Given the description of an element on the screen output the (x, y) to click on. 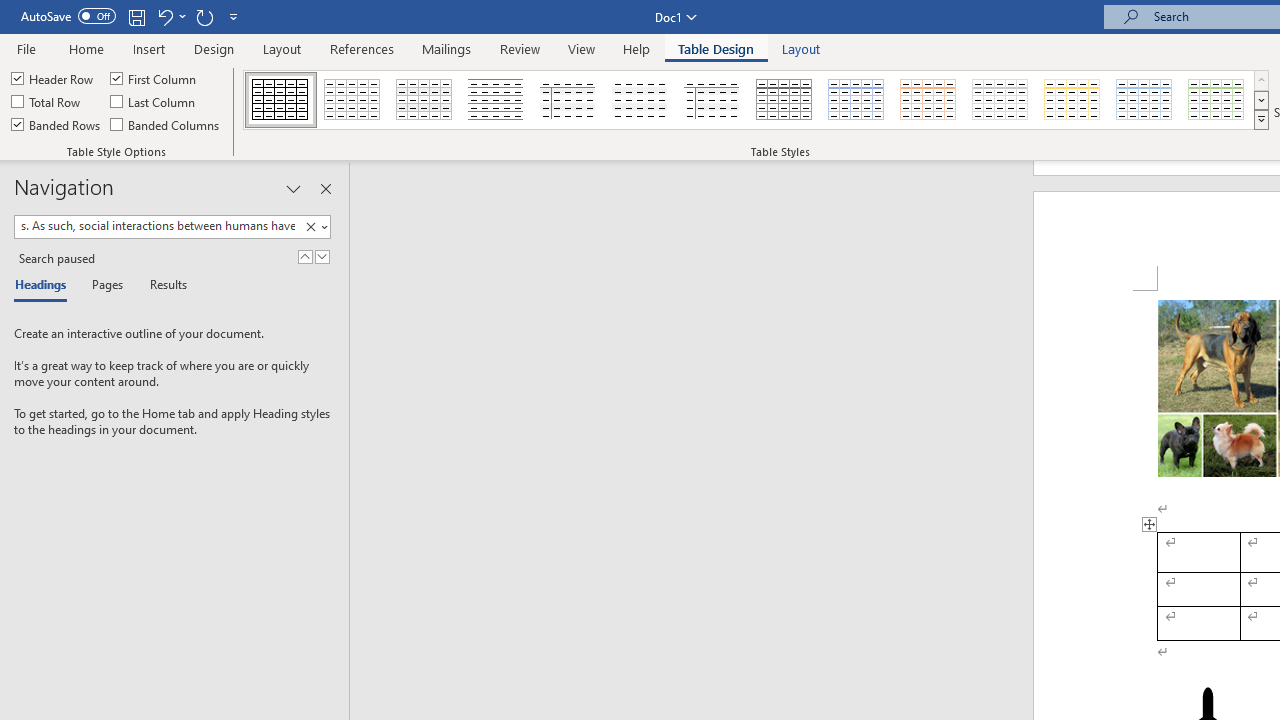
AutomationID: TableStylesGalleryWord (756, 99)
Undo Style (164, 15)
Undo Style (170, 15)
Plain Table 1 (424, 100)
Plain Table 5 (712, 100)
Grid Table 1 Light - Accent 3 (1000, 100)
Clear (314, 227)
Previous Result (304, 256)
Plain Table 2 (496, 100)
Grid Table 1 Light - Accent 4 (1072, 100)
